Given the description of an element on the screen output the (x, y) to click on. 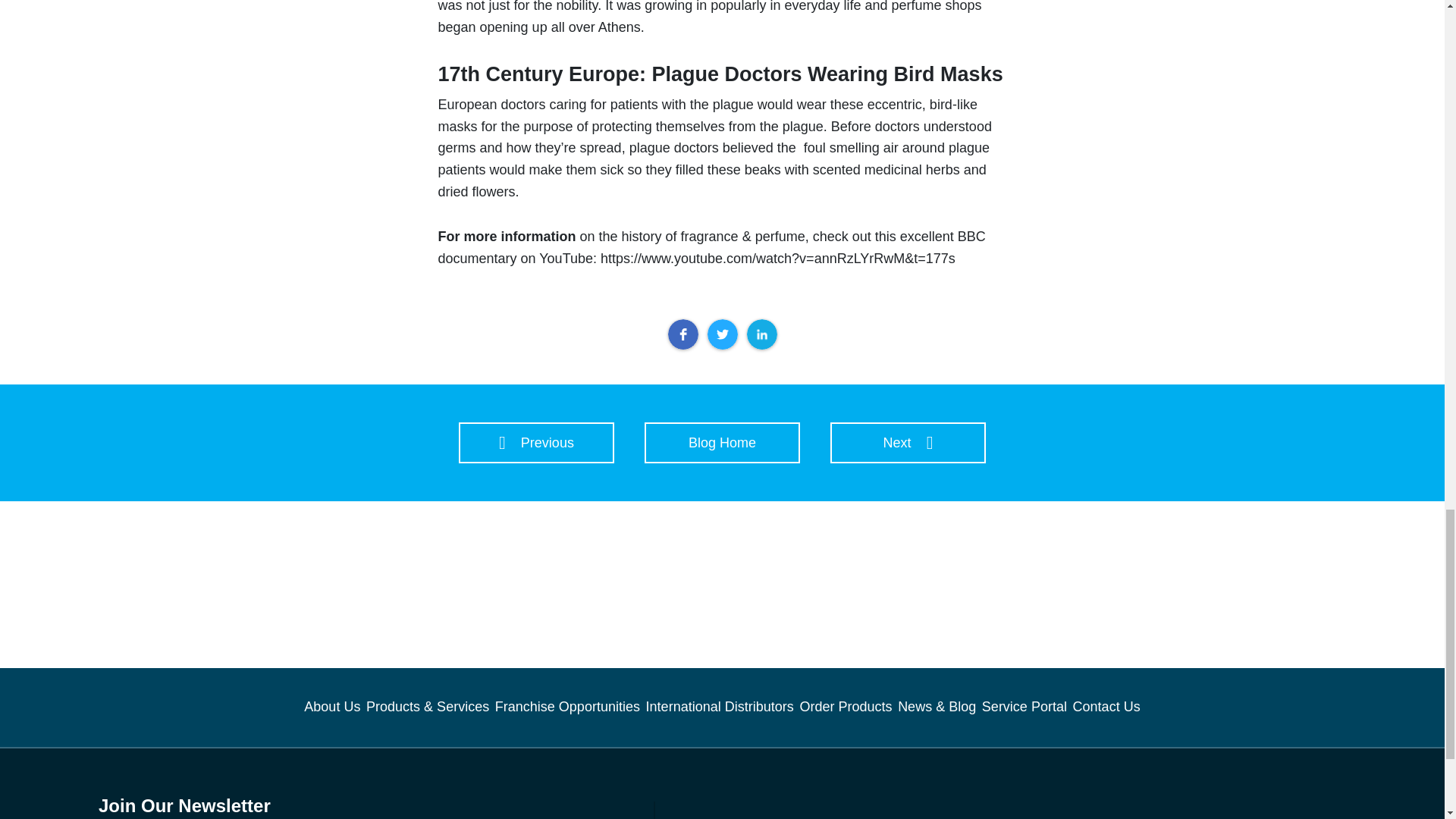
Blog Home (722, 442)
Facebook (681, 334)
LinkedIn (760, 334)
Twitter (721, 334)
Previous (536, 442)
Next (907, 442)
